Given the description of an element on the screen output the (x, y) to click on. 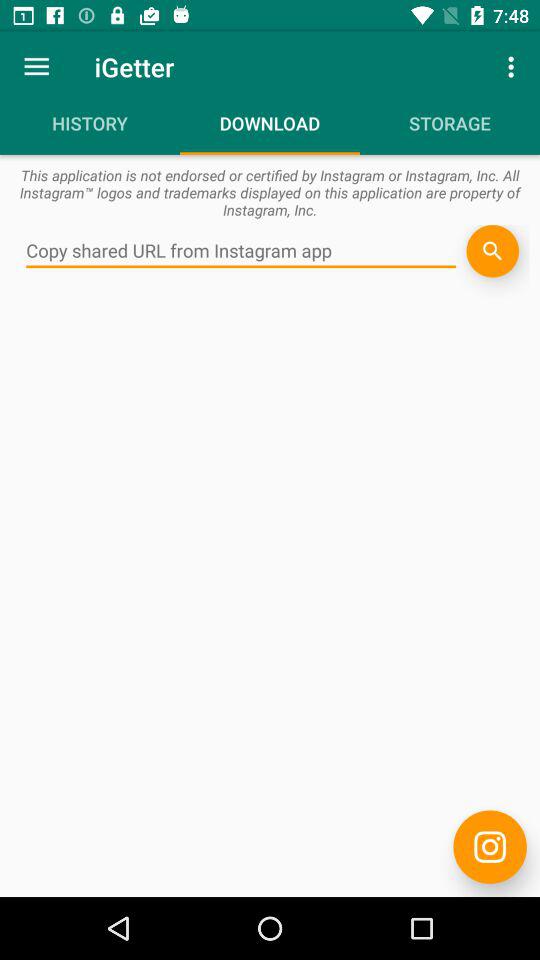
share the article (492, 251)
